Given the description of an element on the screen output the (x, y) to click on. 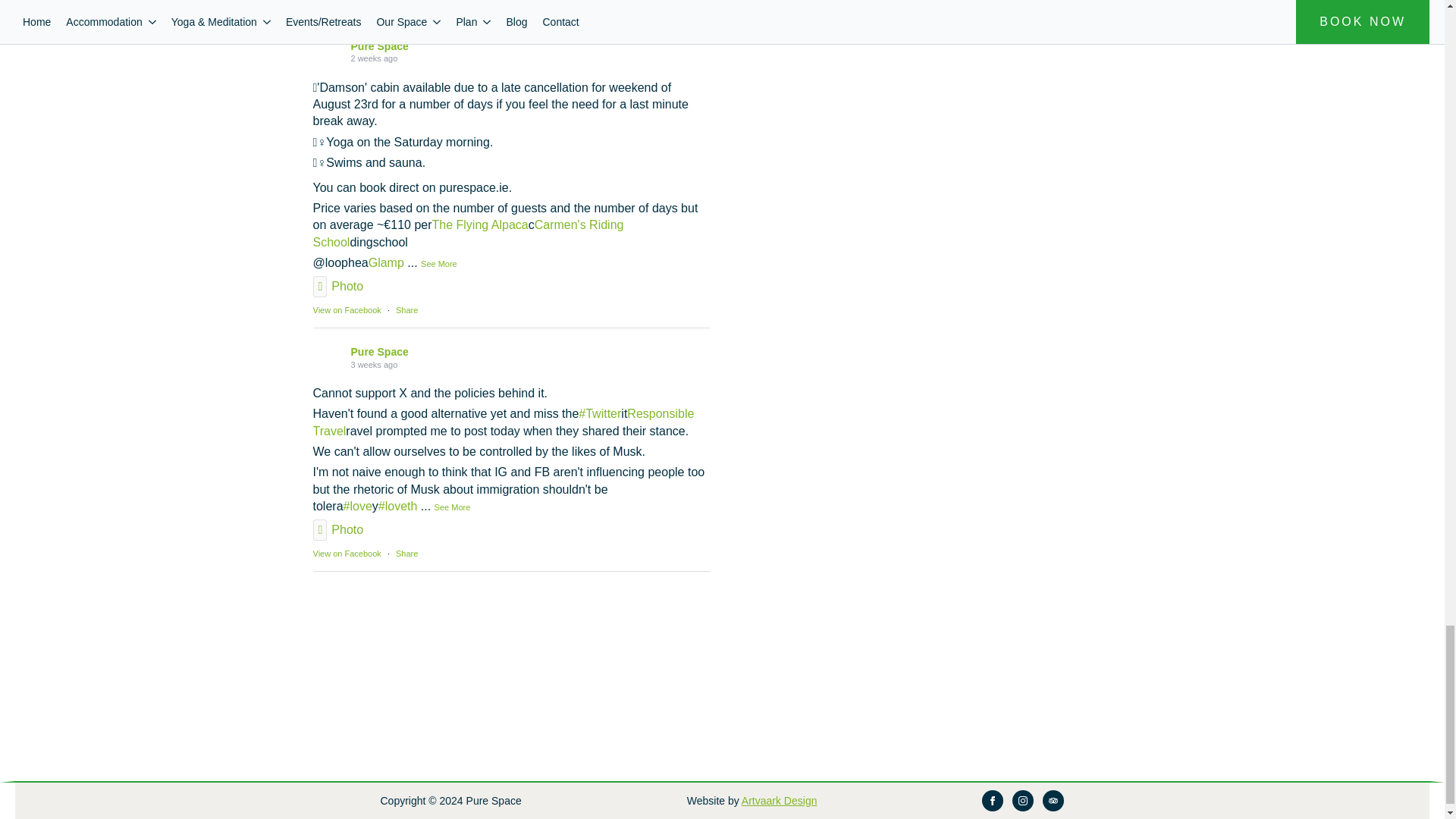
Likebox Iframe (511, 644)
Share (406, 309)
View on Facebook (346, 4)
Share (406, 552)
View on Facebook (346, 552)
View on Facebook (346, 309)
Share (406, 4)
